Given the description of an element on the screen output the (x, y) to click on. 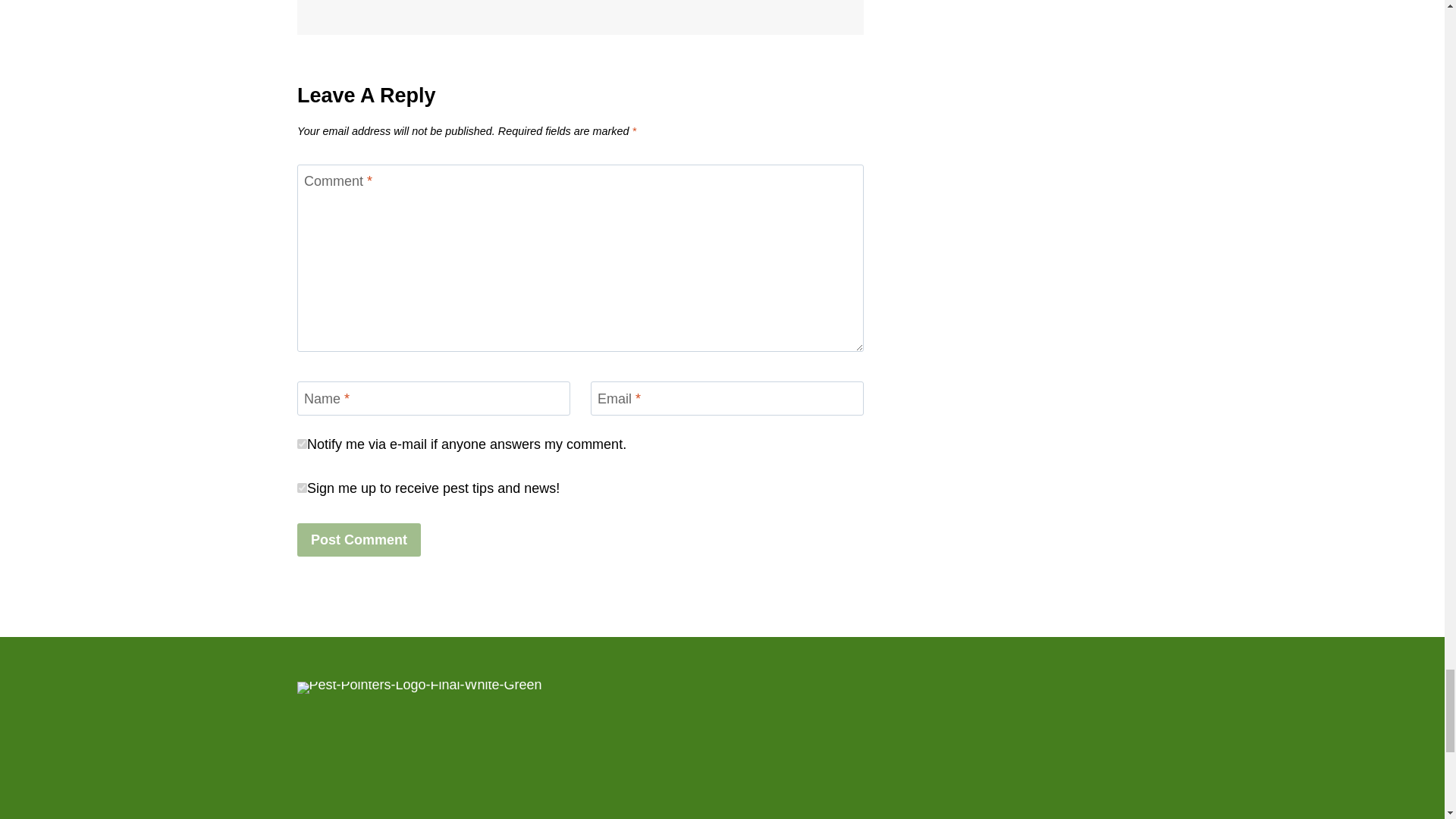
on (302, 462)
Post Comment (358, 558)
1 (302, 506)
